Given the description of an element on the screen output the (x, y) to click on. 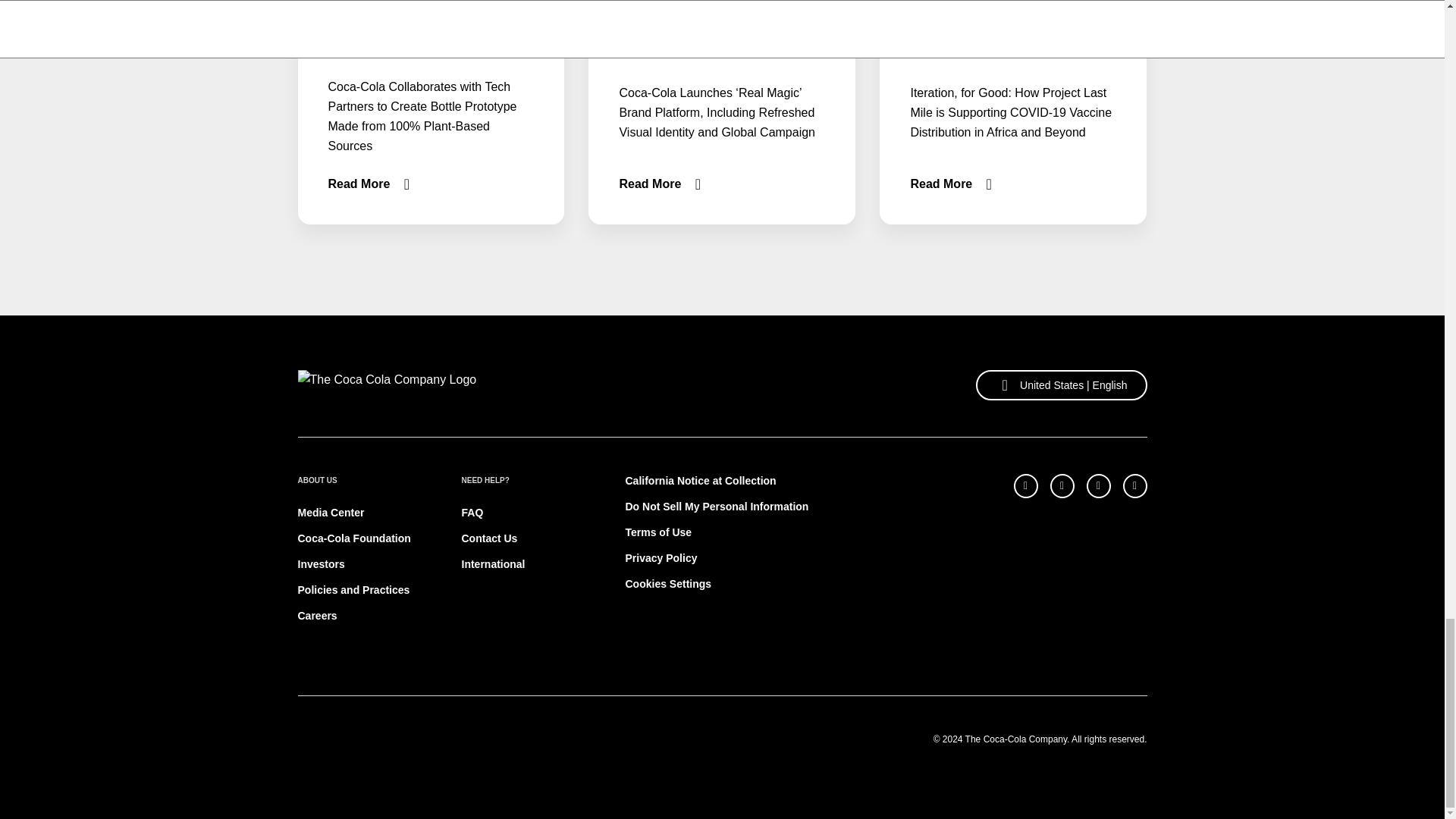
the-coca-cola-company-logo-white.svg (386, 385)
